Given the description of an element on the screen output the (x, y) to click on. 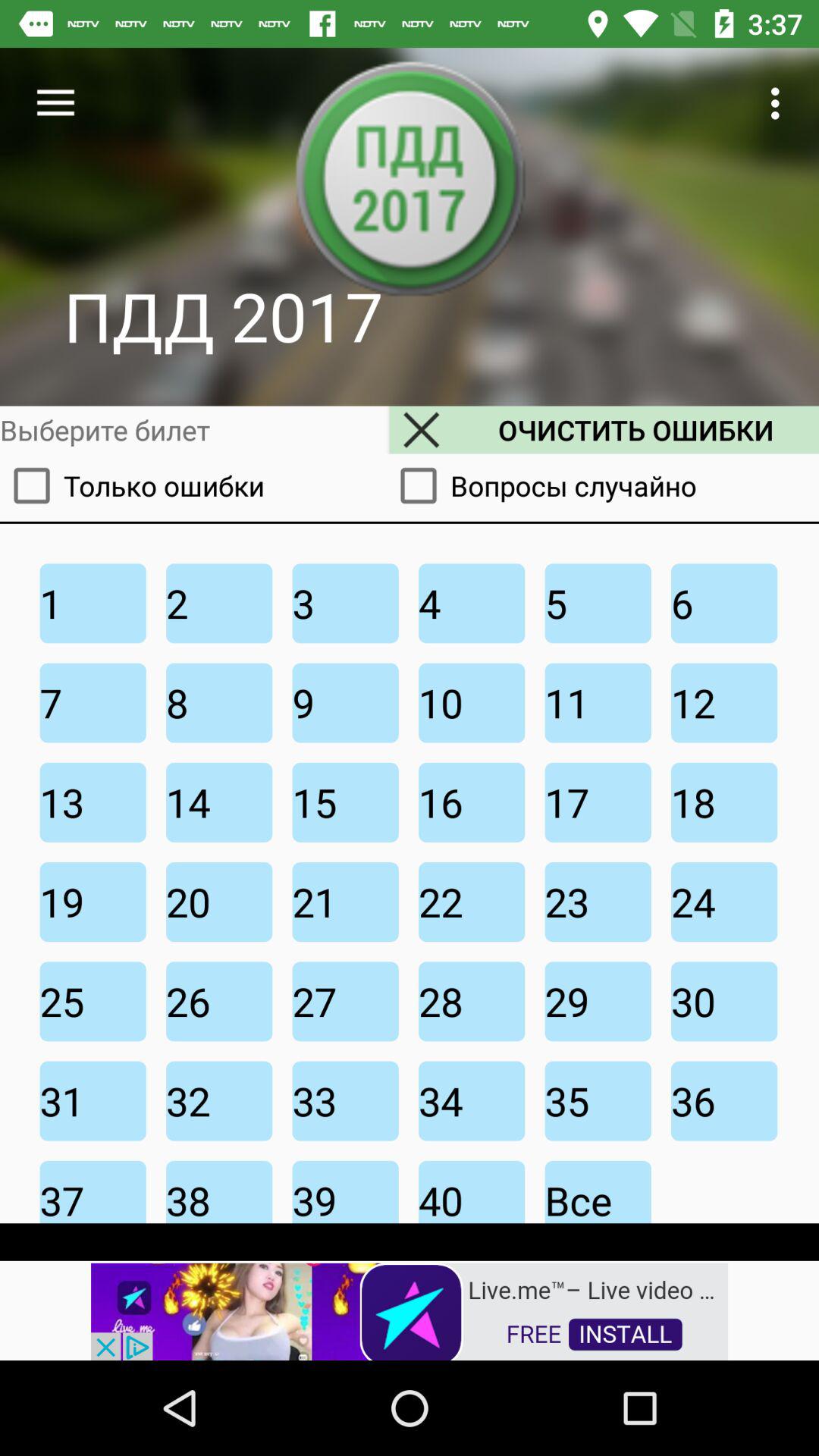
advertisement (409, 1310)
